Given the description of an element on the screen output the (x, y) to click on. 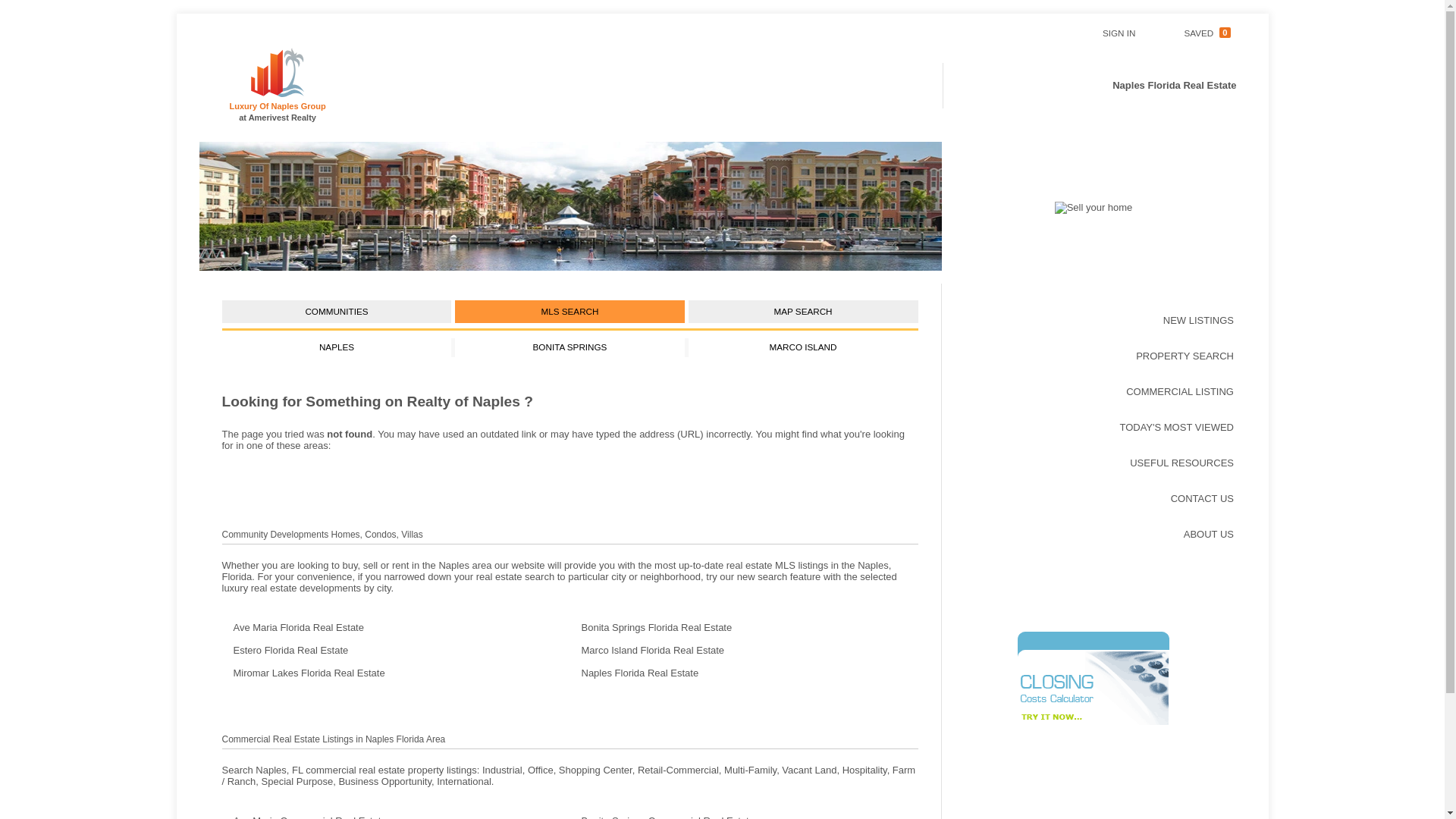
NEW LISTINGS (1198, 32)
Marco Island Florida Real Estate - Homes and Condos for Sale (1093, 320)
CONTACT US (744, 650)
Bonita Springs Commercial Real Estate Listing (1093, 498)
Bonita Springs Florida Real Estate (744, 816)
USEFUL RESOURCES (569, 346)
Search Naples Residential and Commercial Properties (1093, 462)
Bonita Springs Commercial Real Estate (1093, 355)
ABOUT US (744, 816)
Miromar Lakes Florida Real Estate (1093, 534)
Contact Luxury Of Naples Group at Amerivest Realty (395, 672)
SIGN IN (1093, 206)
